Given the description of an element on the screen output the (x, y) to click on. 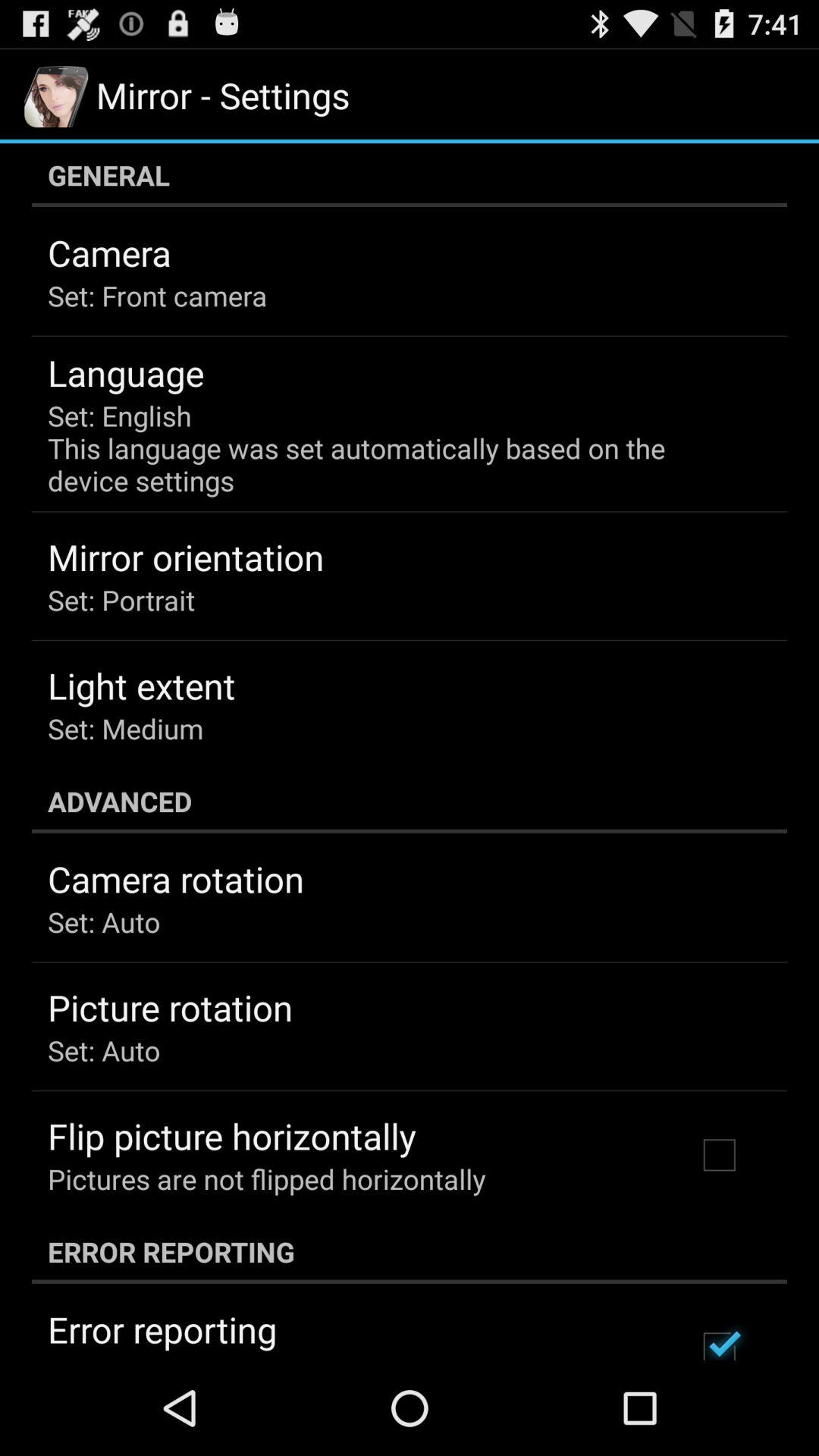
launch pictures are not icon (266, 1178)
